Given the description of an element on the screen output the (x, y) to click on. 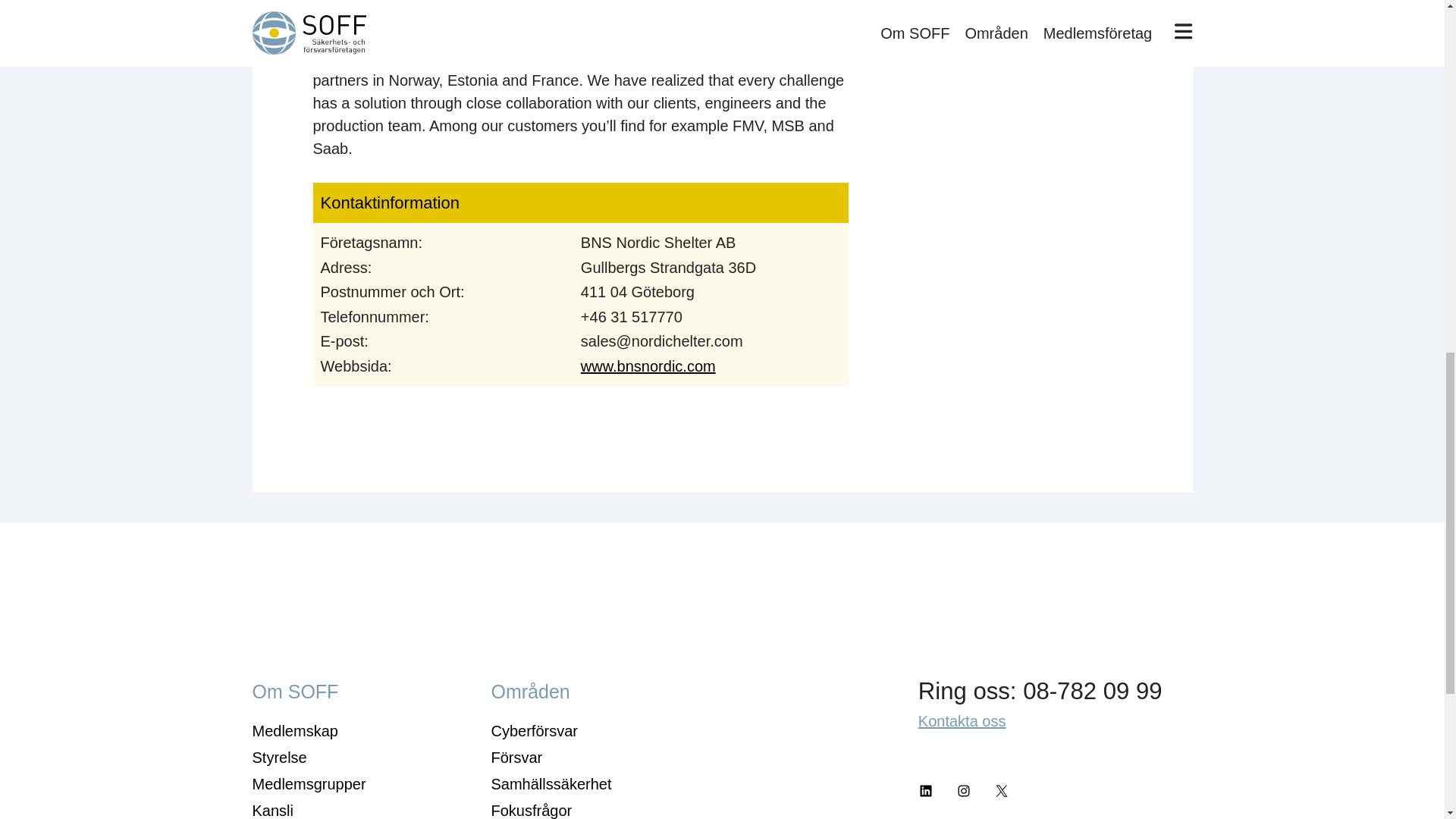
Medlemskap (294, 730)
Styrelse (278, 757)
Om SOFF (294, 690)
Kansli (271, 810)
Medlemsgrupper (308, 783)
www.bnsnordic.com (648, 365)
